Given the description of an element on the screen output the (x, y) to click on. 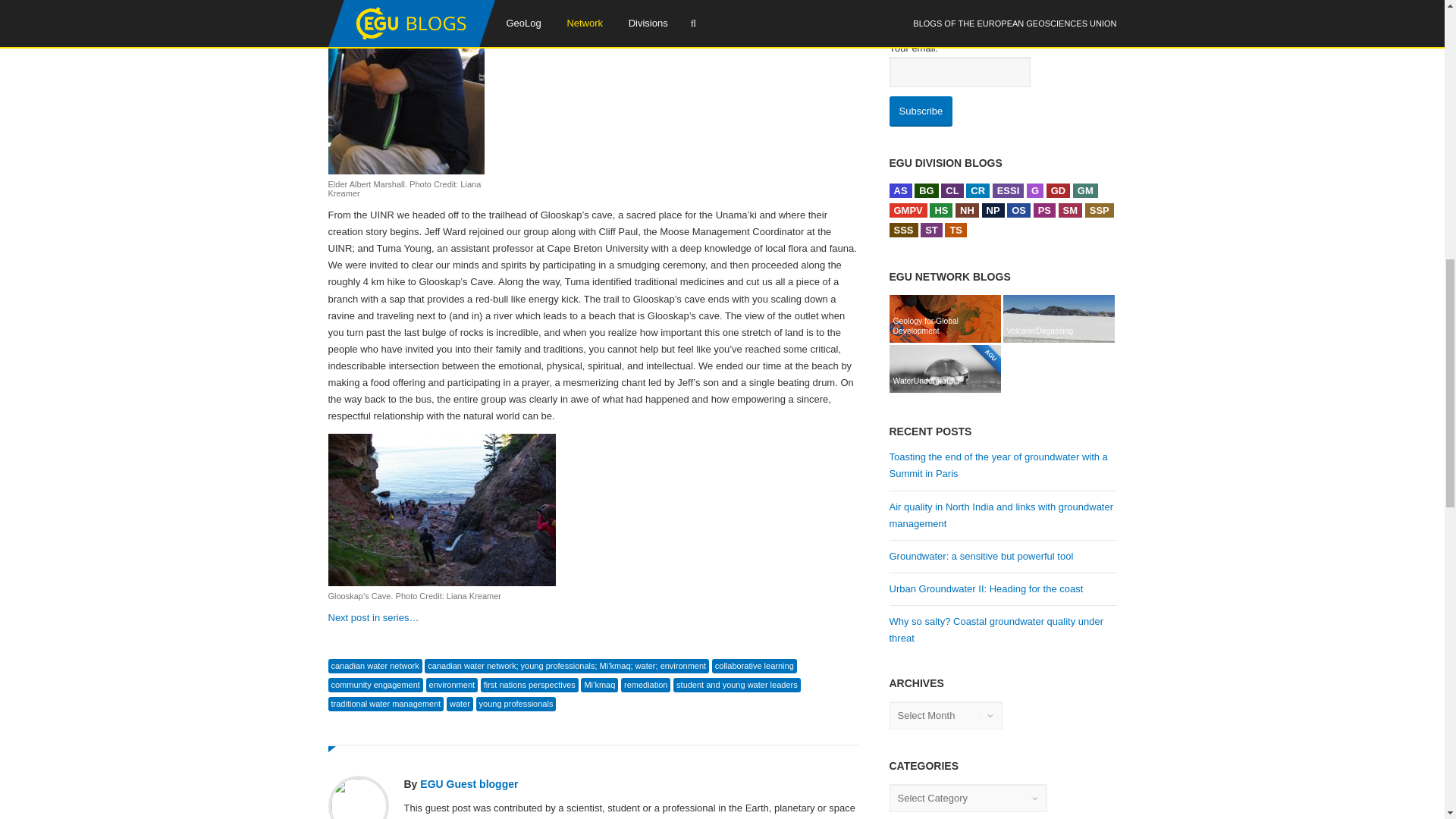
Atmospheric Sciences (899, 190)
Biogeosciences (926, 190)
Subscribe (920, 111)
